Given the description of an element on the screen output the (x, y) to click on. 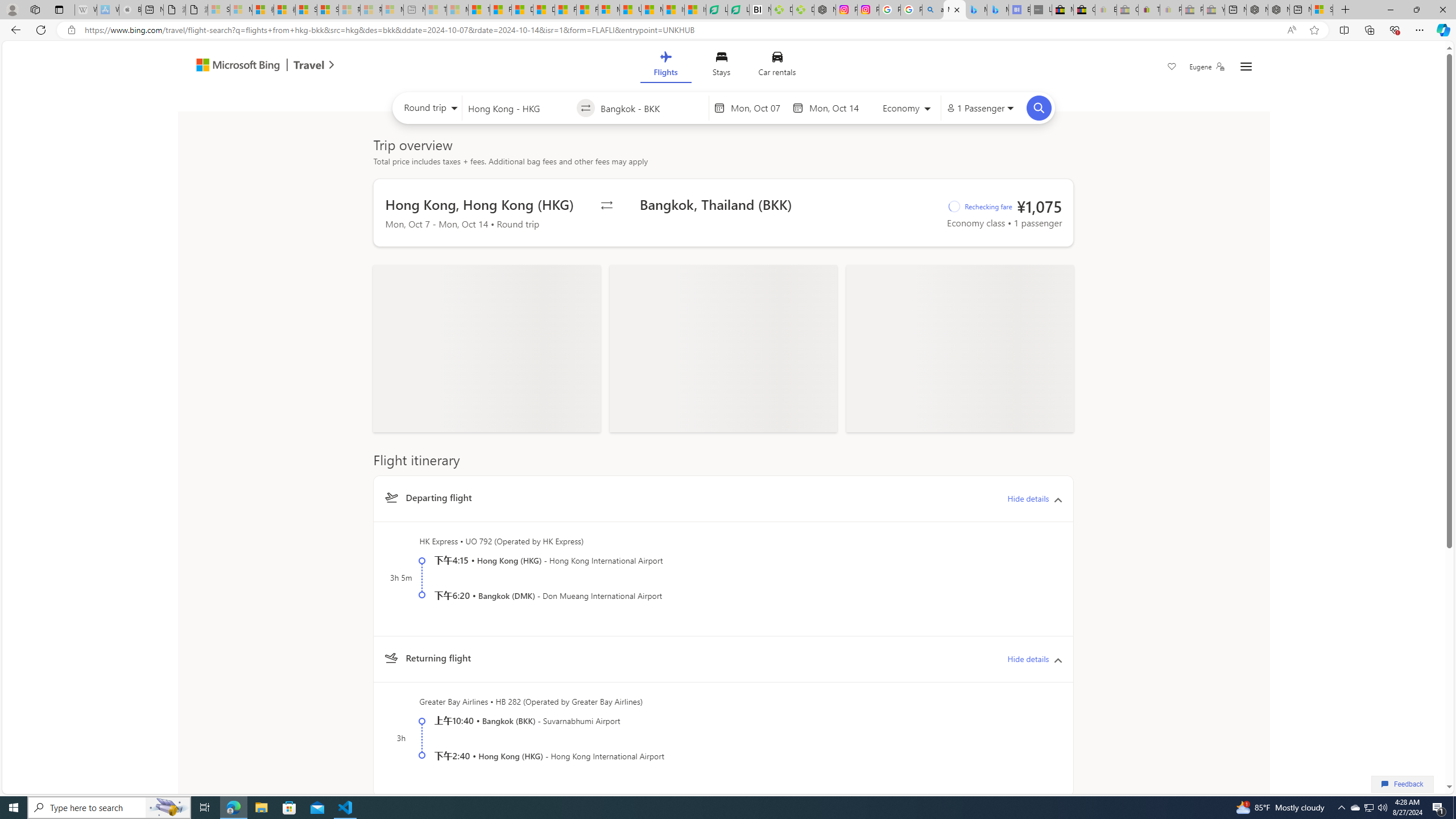
Nordace - Summer Adventures 2024 (1278, 9)
Start Date (758, 107)
Drinking tea every day is proven to delay biological aging (543, 9)
Microsoft Bing Travel - Flights from Hong Kong to Bangkok (954, 9)
Buy iPad - Apple - Sleeping (130, 9)
Leaving from? (518, 107)
Top Stories - MSN - Sleeping (435, 9)
Eugene (1206, 66)
Travel (308, 65)
US Heat Deaths Soared To Record High Last Year (630, 9)
